Given the description of an element on the screen output the (x, y) to click on. 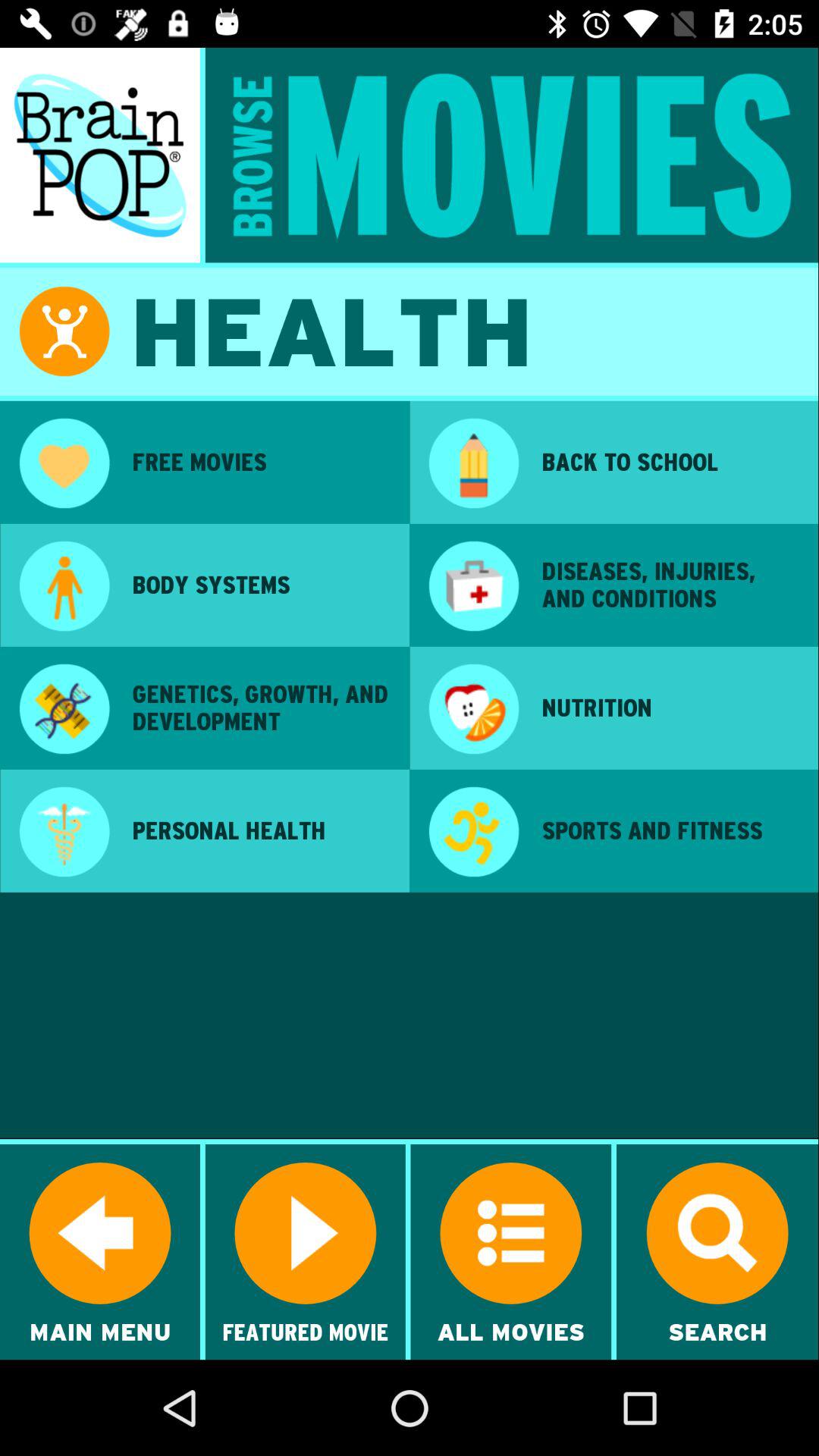
select the image on left to the text sports and fitness on the web page (473, 833)
